Given the description of an element on the screen output the (x, y) to click on. 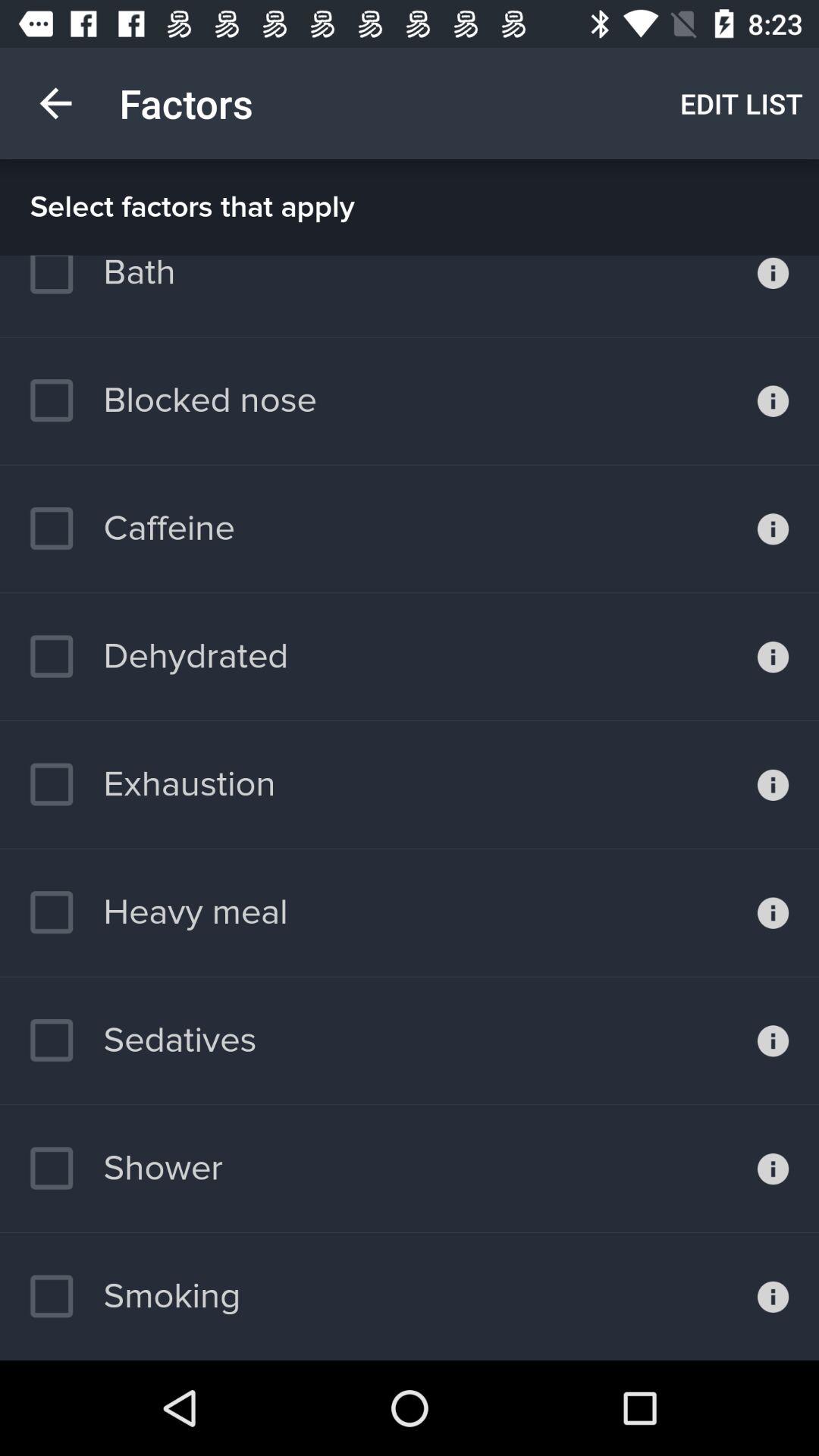
open information on sedatives (773, 1040)
